Given the description of an element on the screen output the (x, y) to click on. 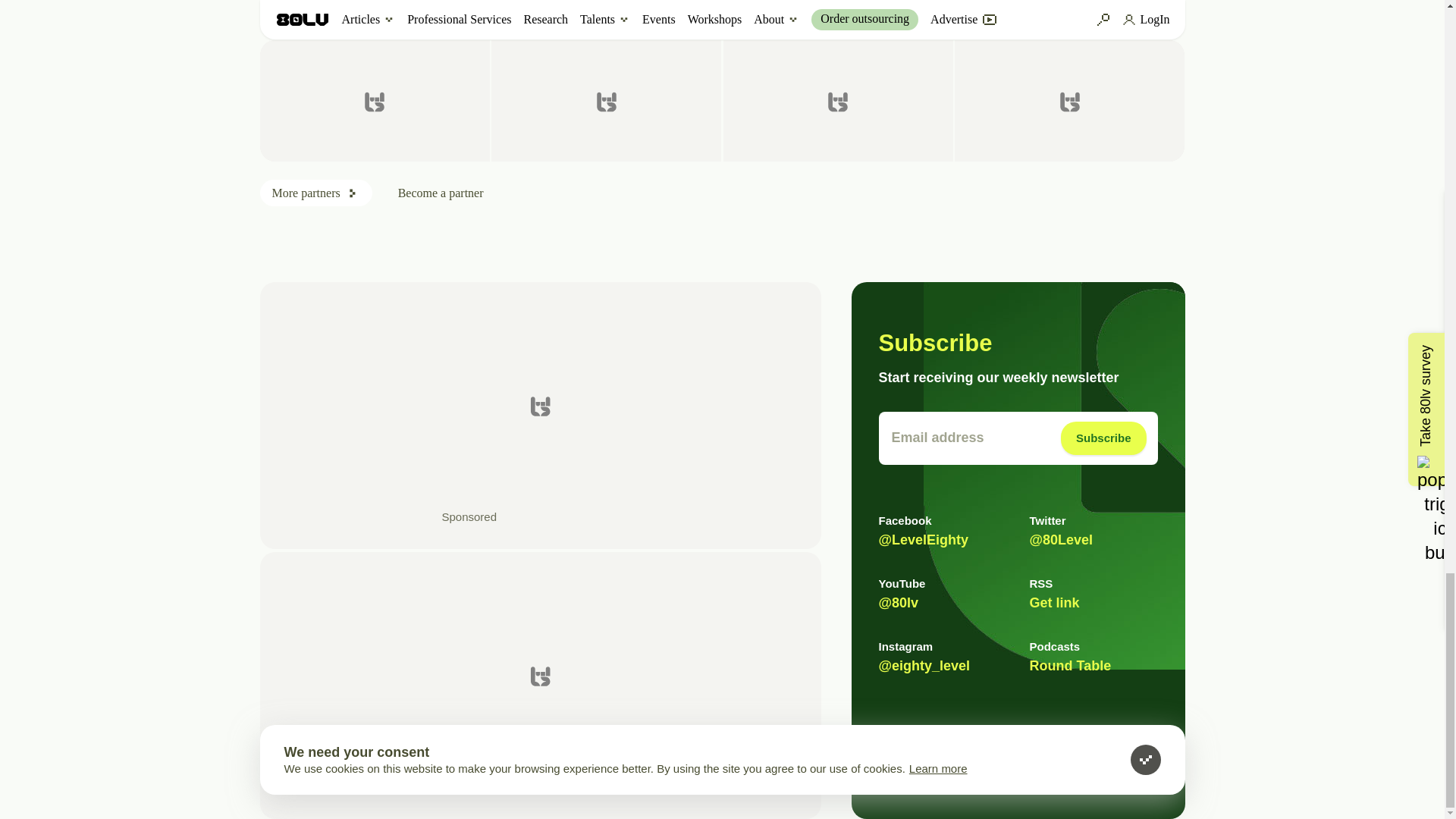
TMRW.inc (374, 100)
Style3D (1070, 100)
Darmstadt Graphics Group (606, 100)
Graswald (838, 100)
